Given the description of an element on the screen output the (x, y) to click on. 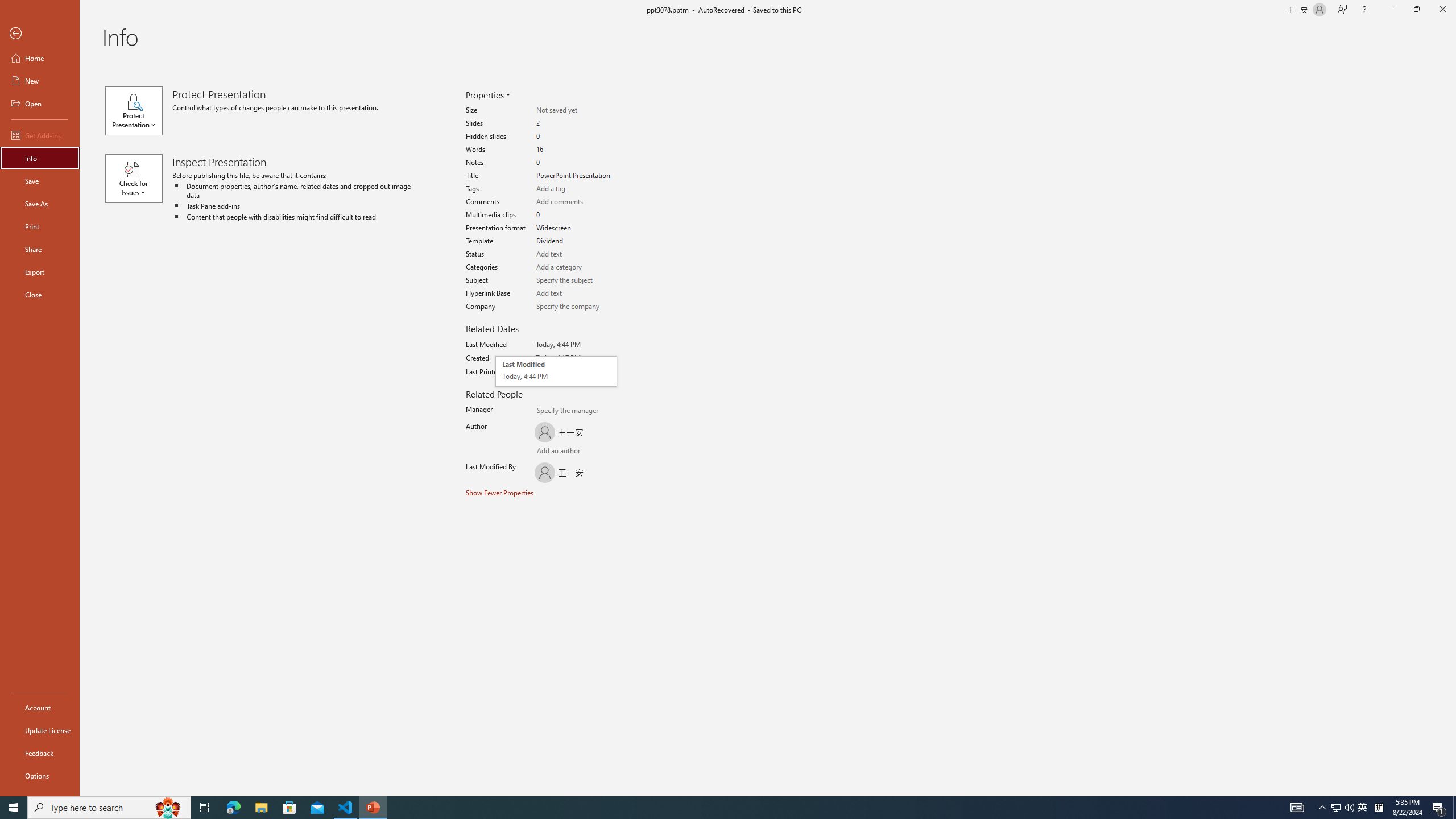
Notes (575, 162)
Title (575, 175)
Browse Address Book (595, 451)
Account (40, 707)
Print (40, 225)
Check for Issues (137, 178)
Update License (40, 730)
Protect Presentation (556, 371)
Multimedia clips (137, 110)
Add an author (575, 214)
Words (542, 451)
